Given the description of an element on the screen output the (x, y) to click on. 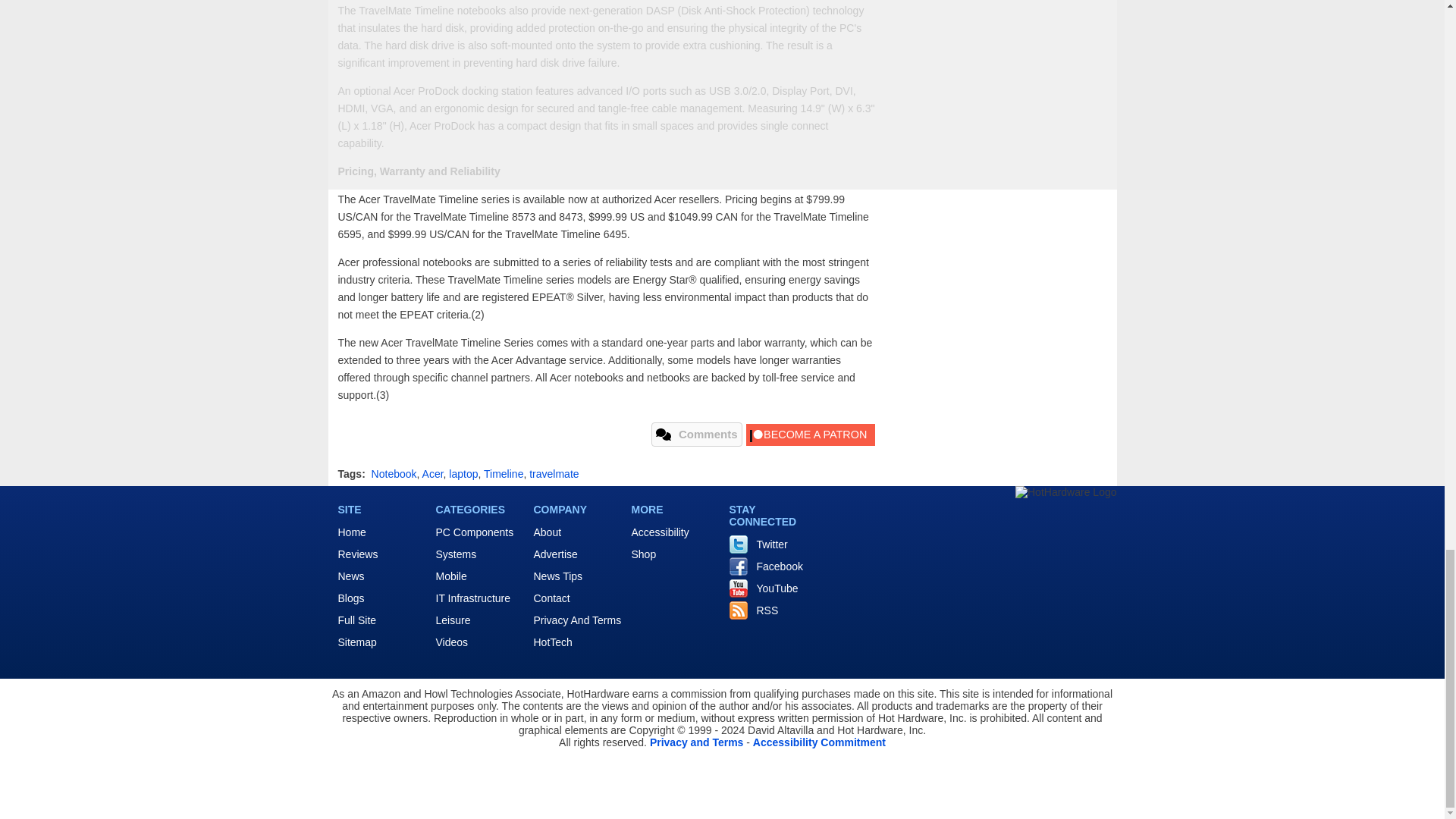
Comments (696, 434)
